Given the description of an element on the screen output the (x, y) to click on. 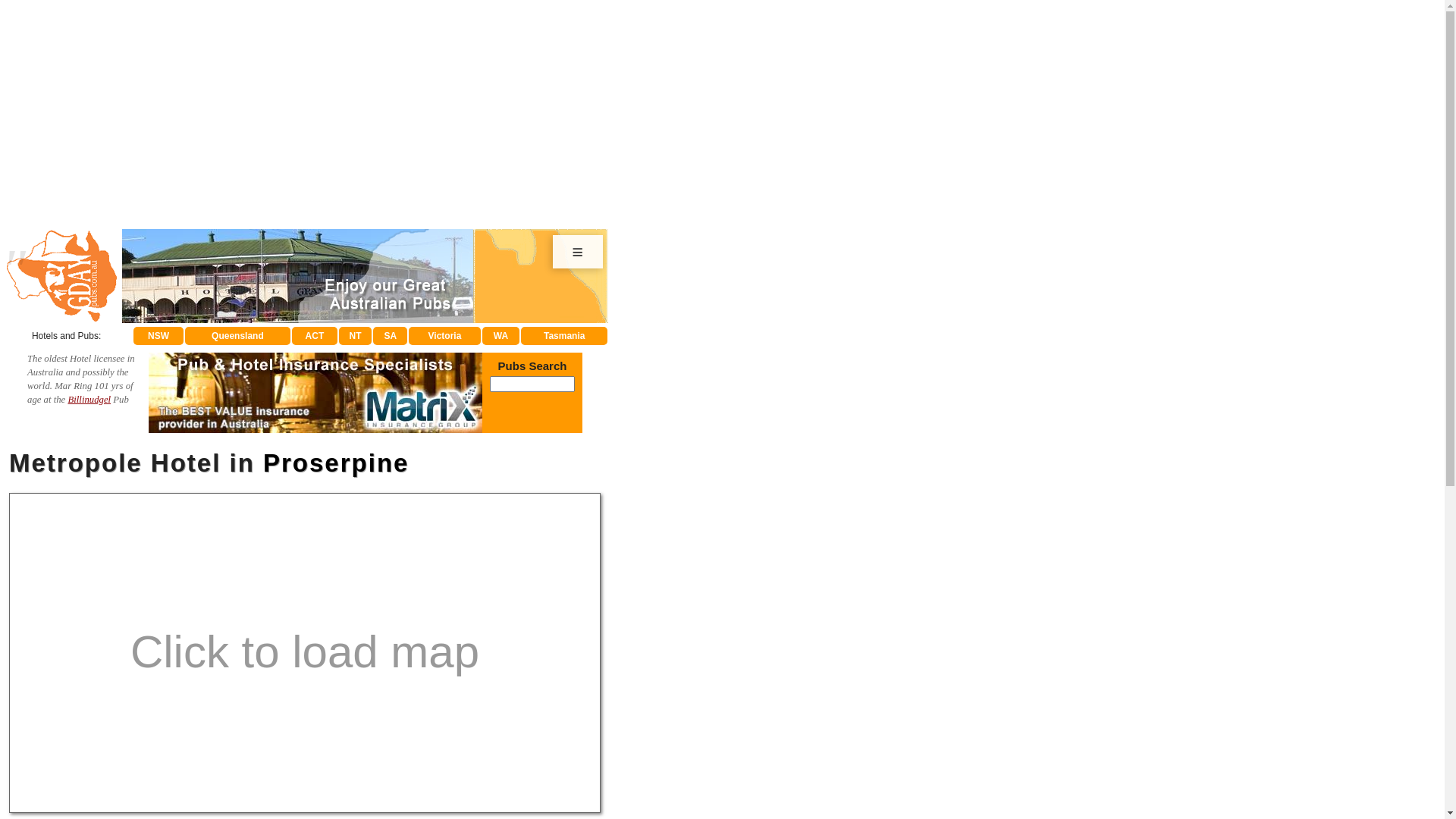
Queensland Element type: text (237, 335)
NSW Element type: text (158, 335)
Victoria Element type: text (444, 335)
NT Element type: text (355, 335)
WA Element type: text (501, 335)
SA Element type: text (390, 335)
Billinudgel Element type: text (88, 399)
ACT Element type: text (313, 335)
Tasmania Element type: text (563, 335)
Proserpine Element type: text (335, 462)
Advertisement Element type: hover (369, 115)
